Given the description of an element on the screen output the (x, y) to click on. 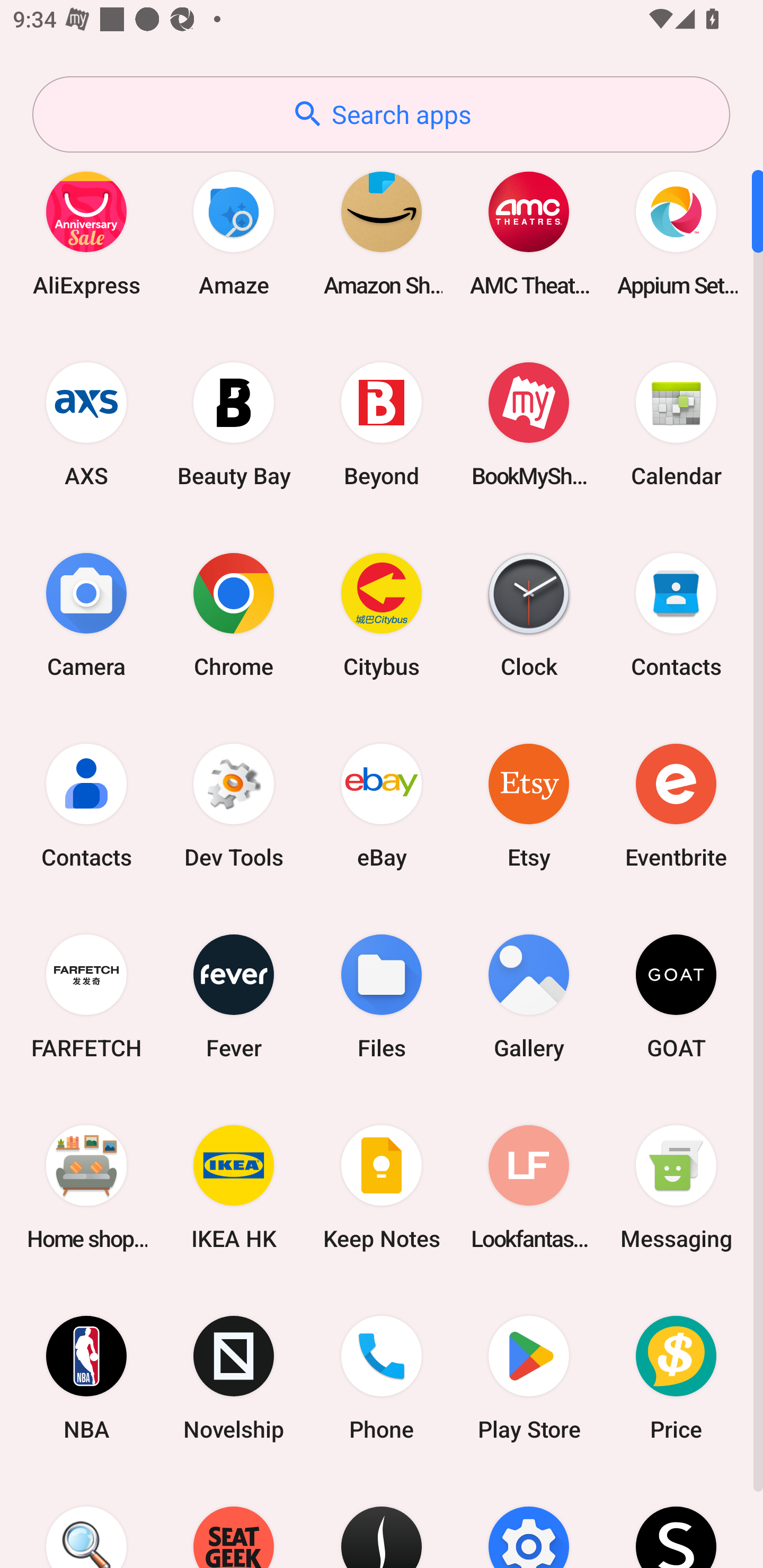
  Search apps (381, 114)
AliExpress (86, 233)
Amaze (233, 233)
Amazon Shopping (381, 233)
AMC Theatres (528, 233)
Appium Settings (676, 233)
AXS (86, 424)
Beauty Bay (233, 424)
Beyond (381, 424)
BookMyShow (528, 424)
Calendar (676, 424)
Camera (86, 614)
Chrome (233, 614)
Citybus (381, 614)
Clock (528, 614)
Contacts (676, 614)
Contacts (86, 805)
Dev Tools (233, 805)
eBay (381, 805)
Etsy (528, 805)
Eventbrite (676, 805)
FARFETCH (86, 996)
Fever (233, 996)
Files (381, 996)
Gallery (528, 996)
GOAT (676, 996)
Home shopping (86, 1186)
IKEA HK (233, 1186)
Keep Notes (381, 1186)
Lookfantastic (528, 1186)
Messaging (676, 1186)
NBA (86, 1377)
Novelship (233, 1377)
Phone (381, 1377)
Play Store (528, 1377)
Price (676, 1377)
